Given the description of an element on the screen output the (x, y) to click on. 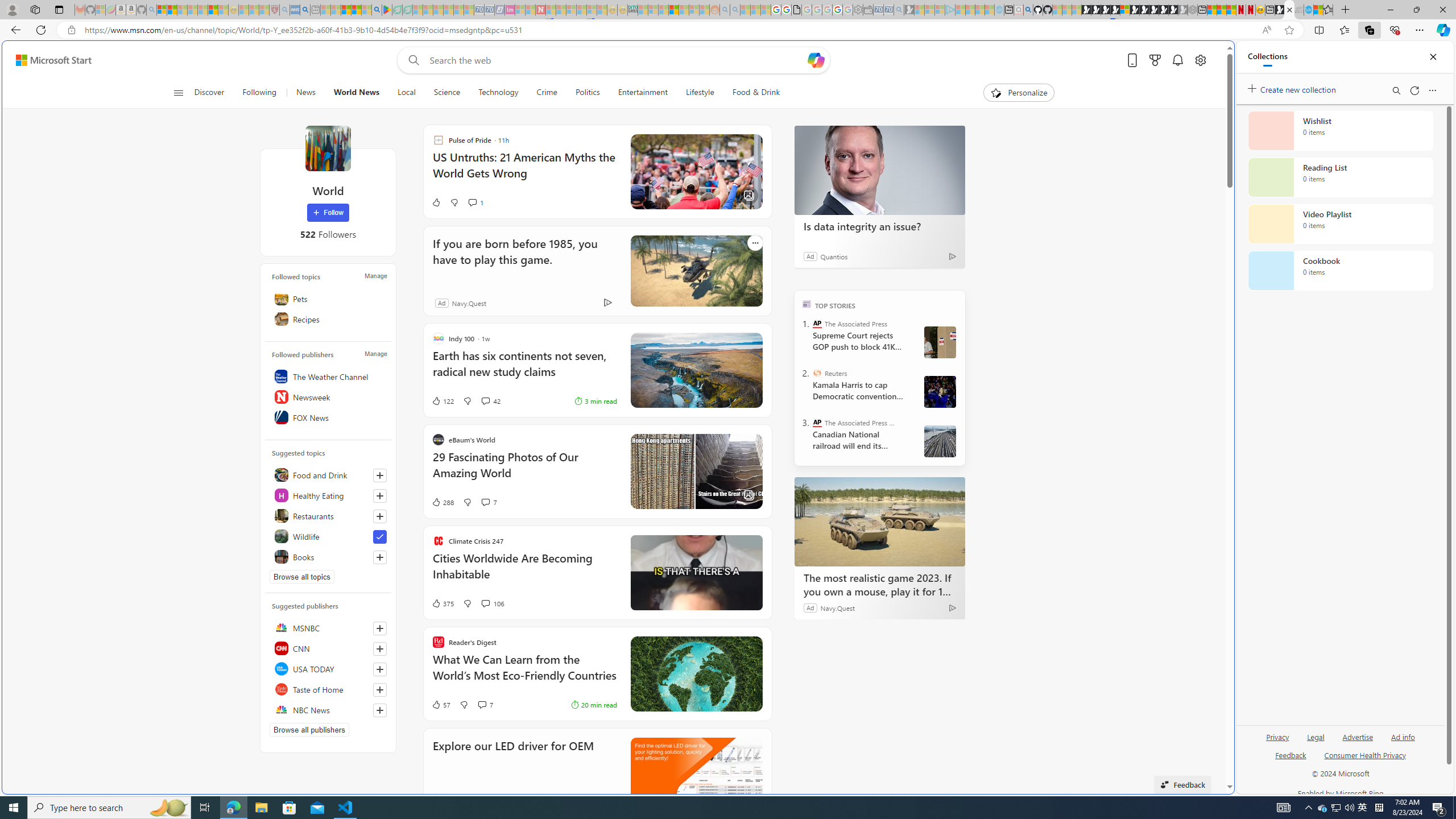
375 Like (442, 603)
Navy.Quest (468, 302)
The Associated Press - Business News (816, 422)
Is data integrity an issue? (879, 169)
Follow this source (379, 710)
Browse all topics (301, 576)
